Given the description of an element on the screen output the (x, y) to click on. 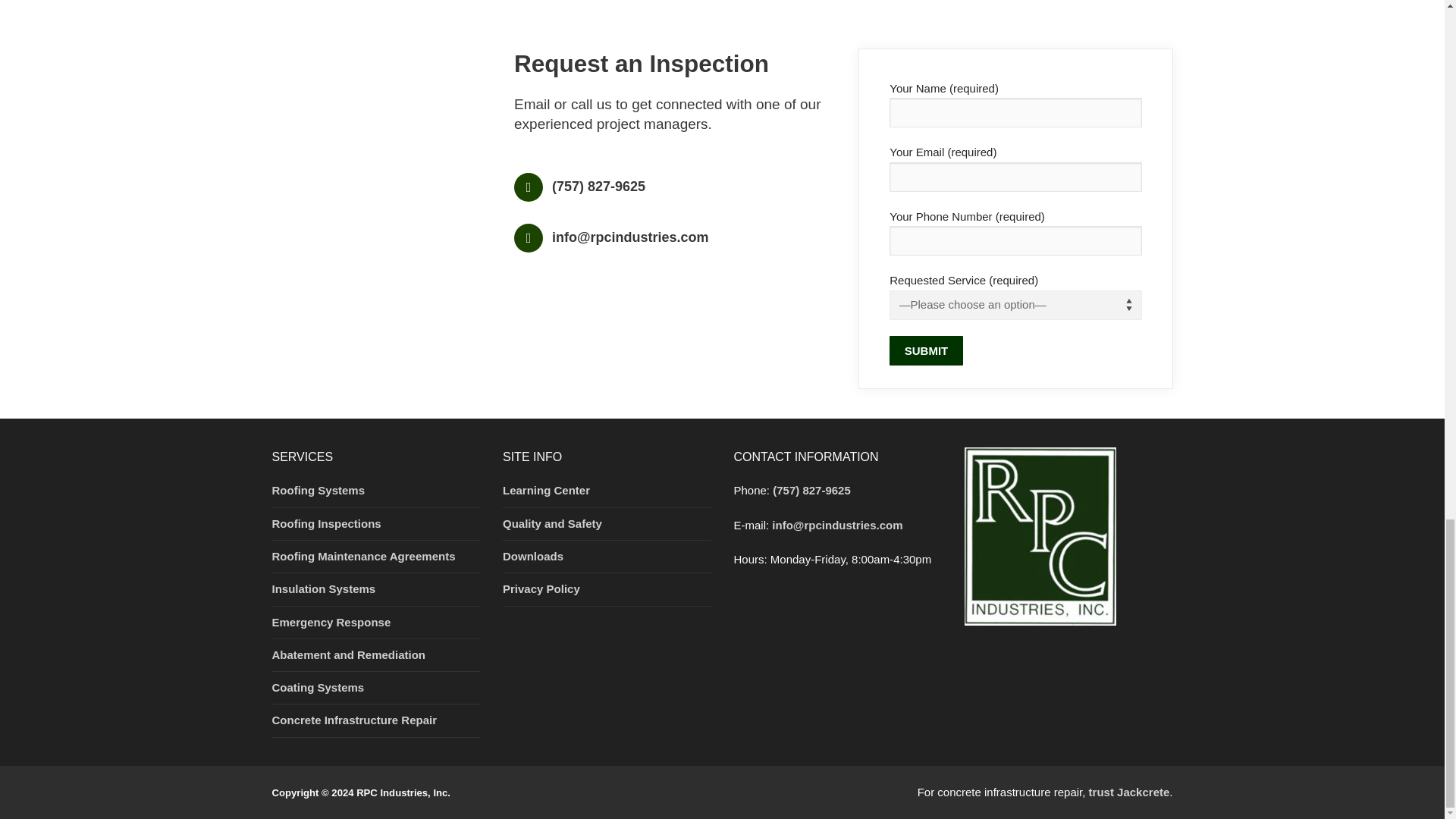
Submit (925, 350)
